Given the description of an element on the screen output the (x, y) to click on. 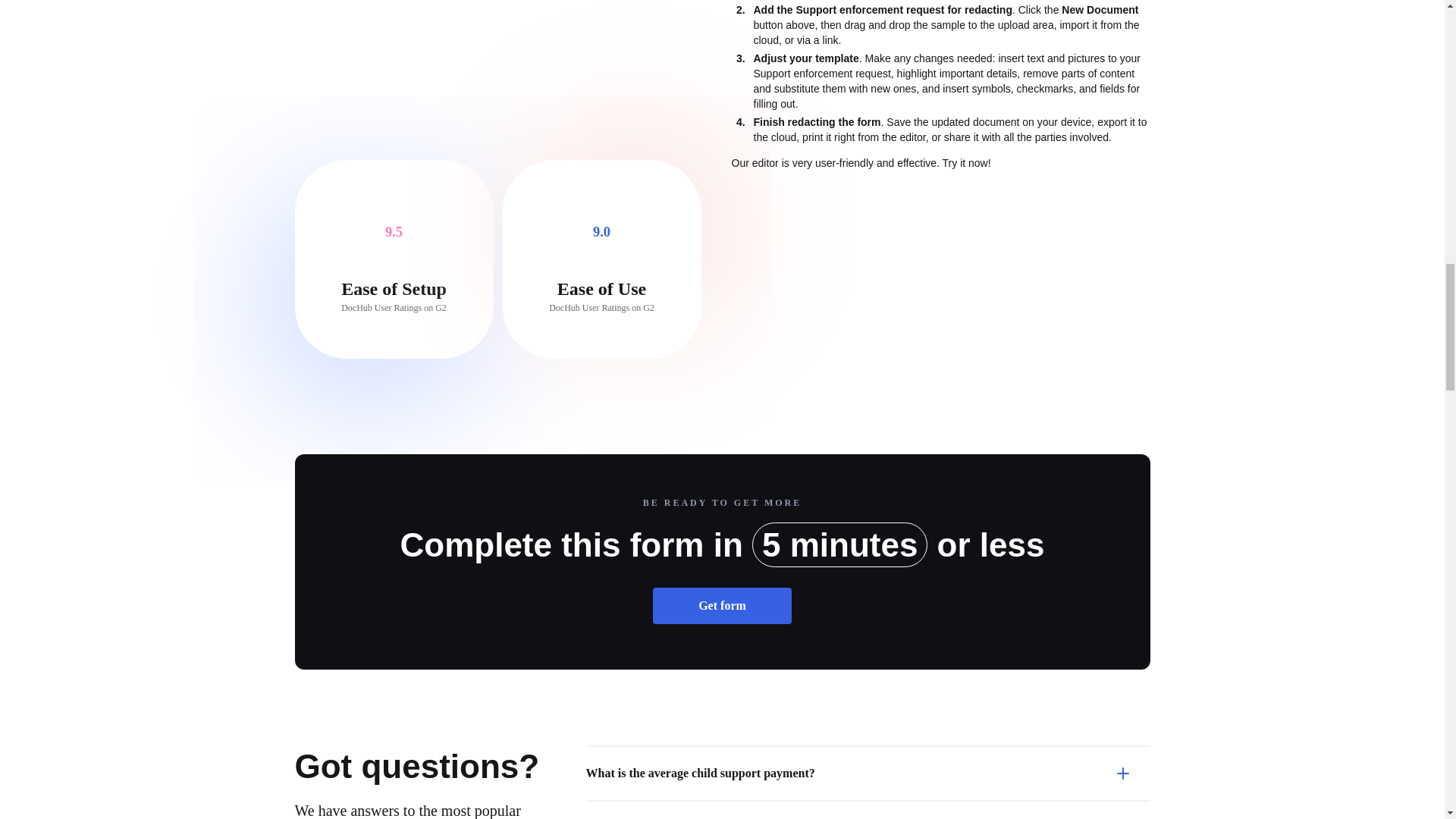
9.5 (394, 232)
Get form (722, 605)
9.0 (601, 232)
